Given the description of an element on the screen output the (x, y) to click on. 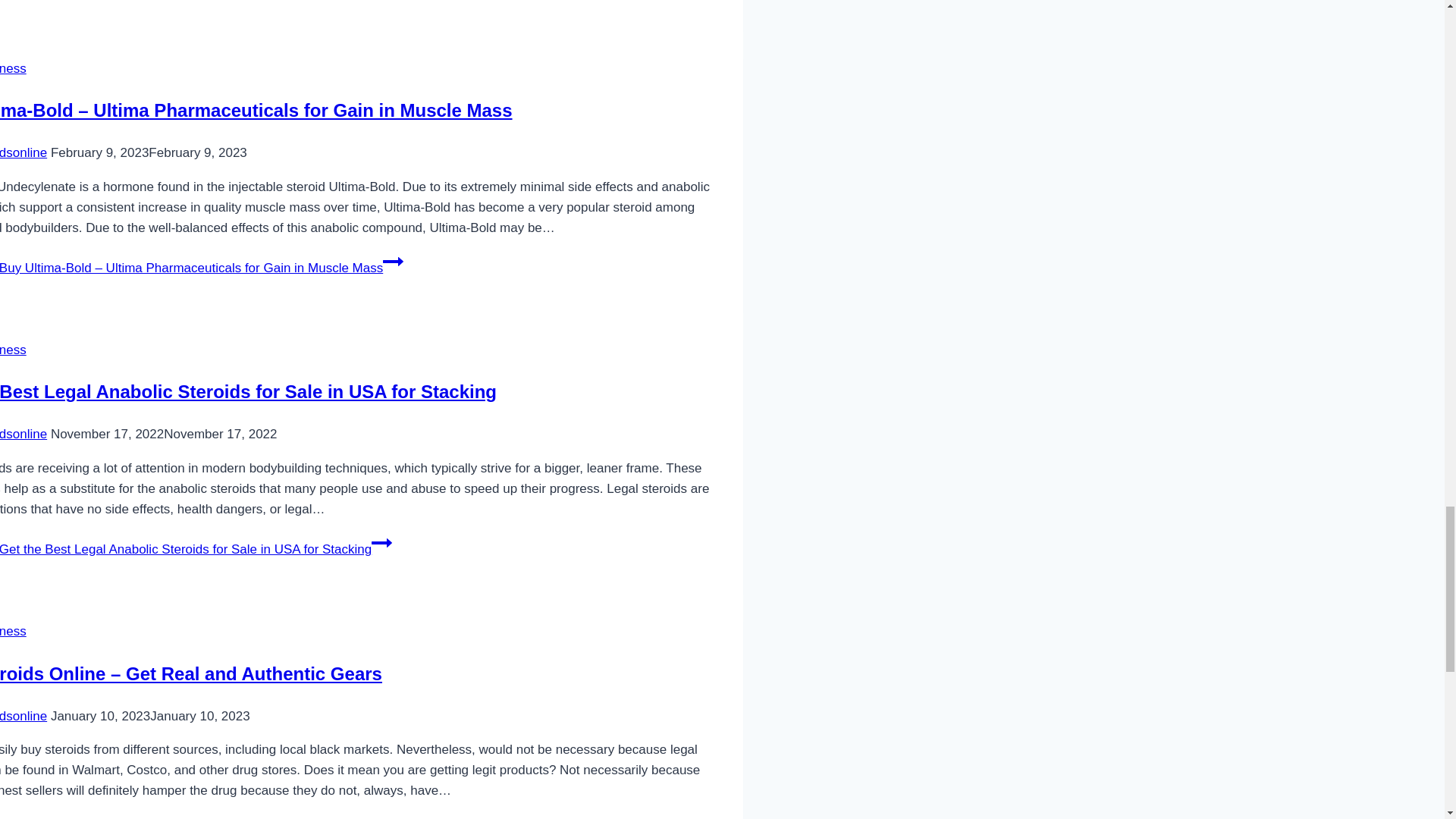
buysteroidsonline (23, 716)
Continue (308, 816)
buysteroidsonline (23, 152)
Continue (392, 260)
buysteroidsonline (23, 433)
Continue (381, 542)
